Given the description of an element on the screen output the (x, y) to click on. 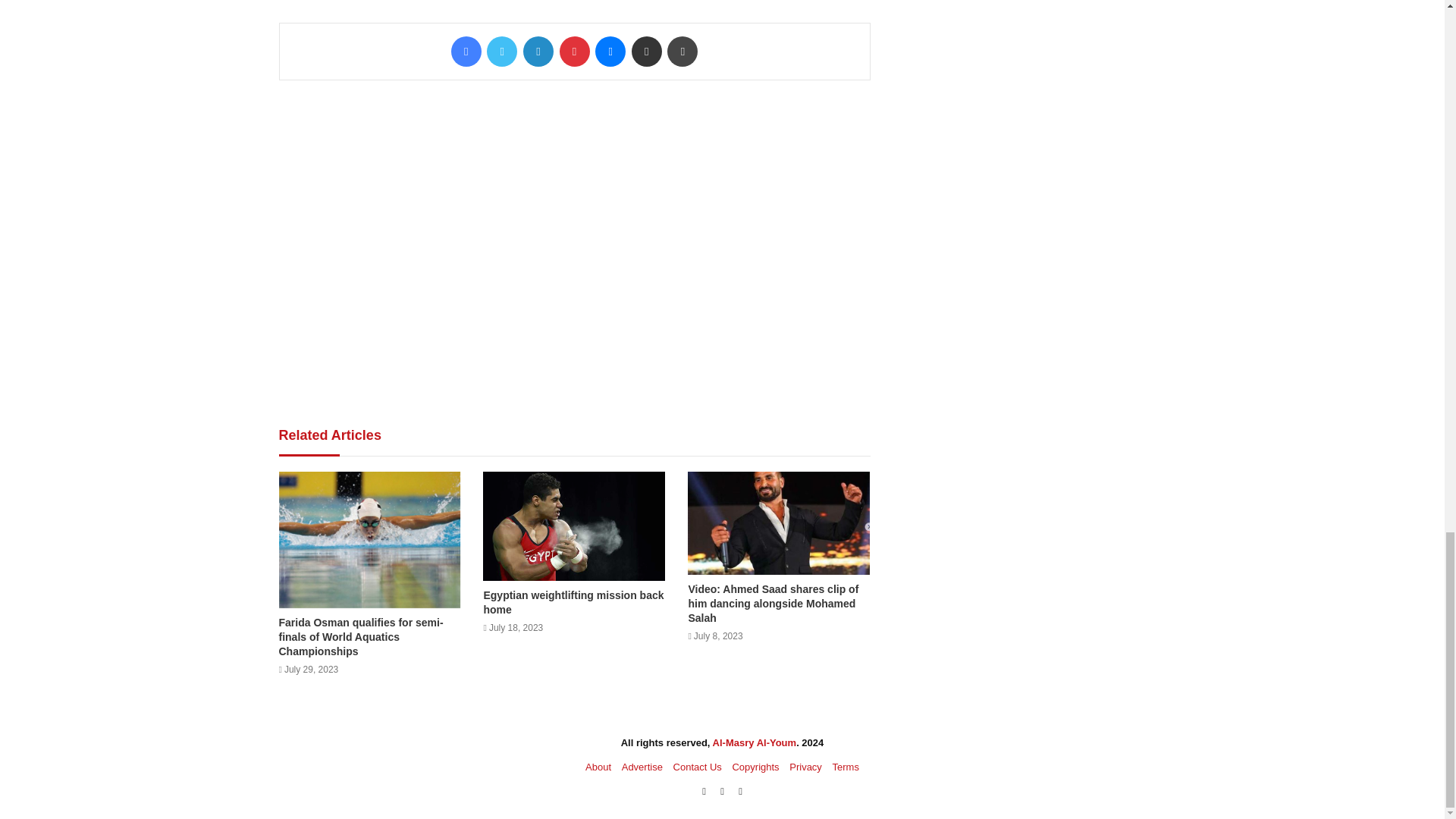
Twitter (501, 51)
Facebook (466, 51)
Share via Email (646, 51)
Facebook (466, 51)
Twitter (501, 51)
LinkedIn (537, 51)
Messenger (610, 51)
Messenger (610, 51)
Pinterest (574, 51)
Pinterest (574, 51)
LinkedIn (537, 51)
